Given the description of an element on the screen output the (x, y) to click on. 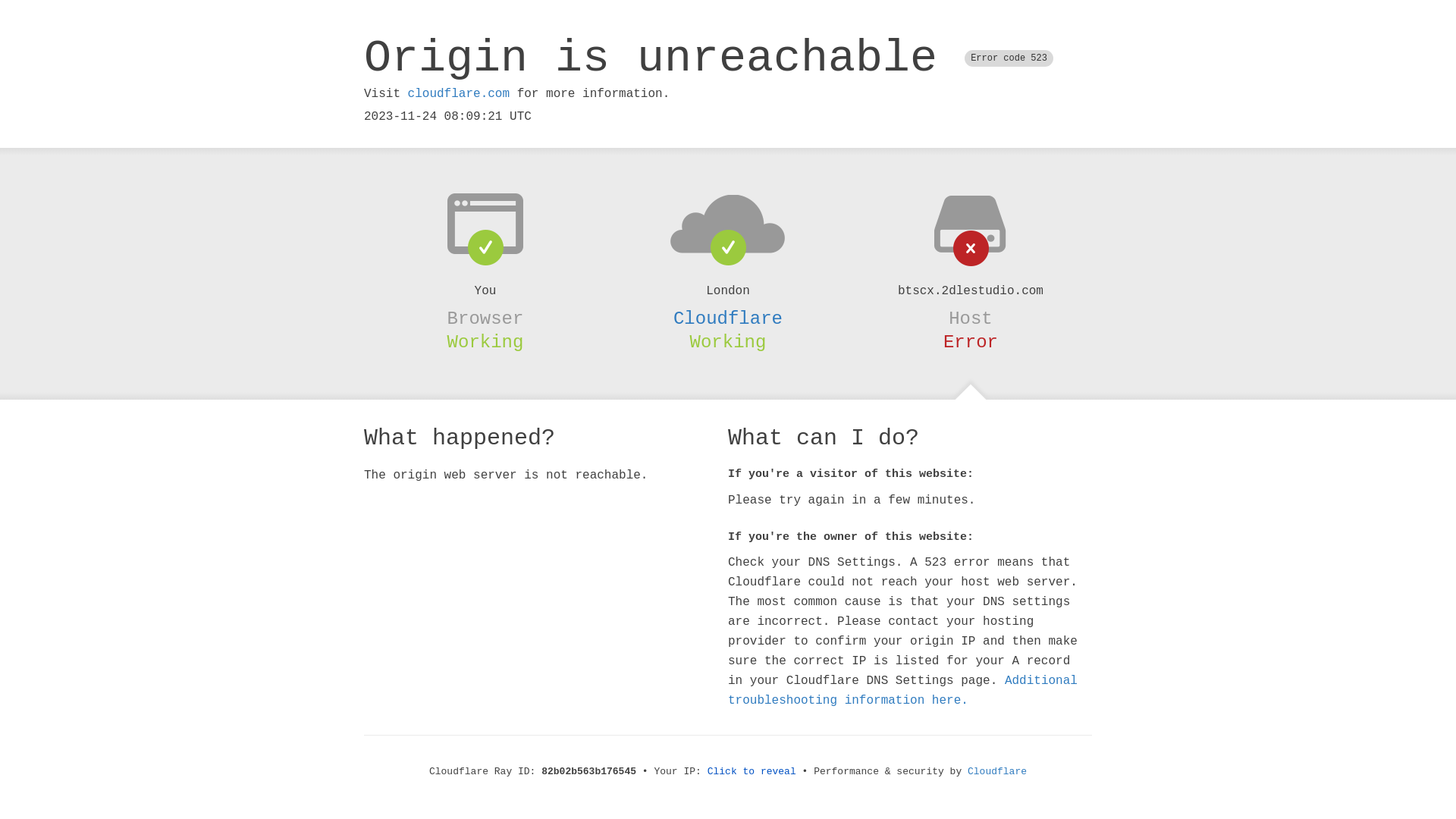
Cloudflare Element type: text (996, 771)
cloudflare.com Element type: text (458, 93)
Click to reveal Element type: text (751, 771)
Cloudflare Element type: text (727, 318)
Additional troubleshooting information here. Element type: text (902, 690)
